Given the description of an element on the screen output the (x, y) to click on. 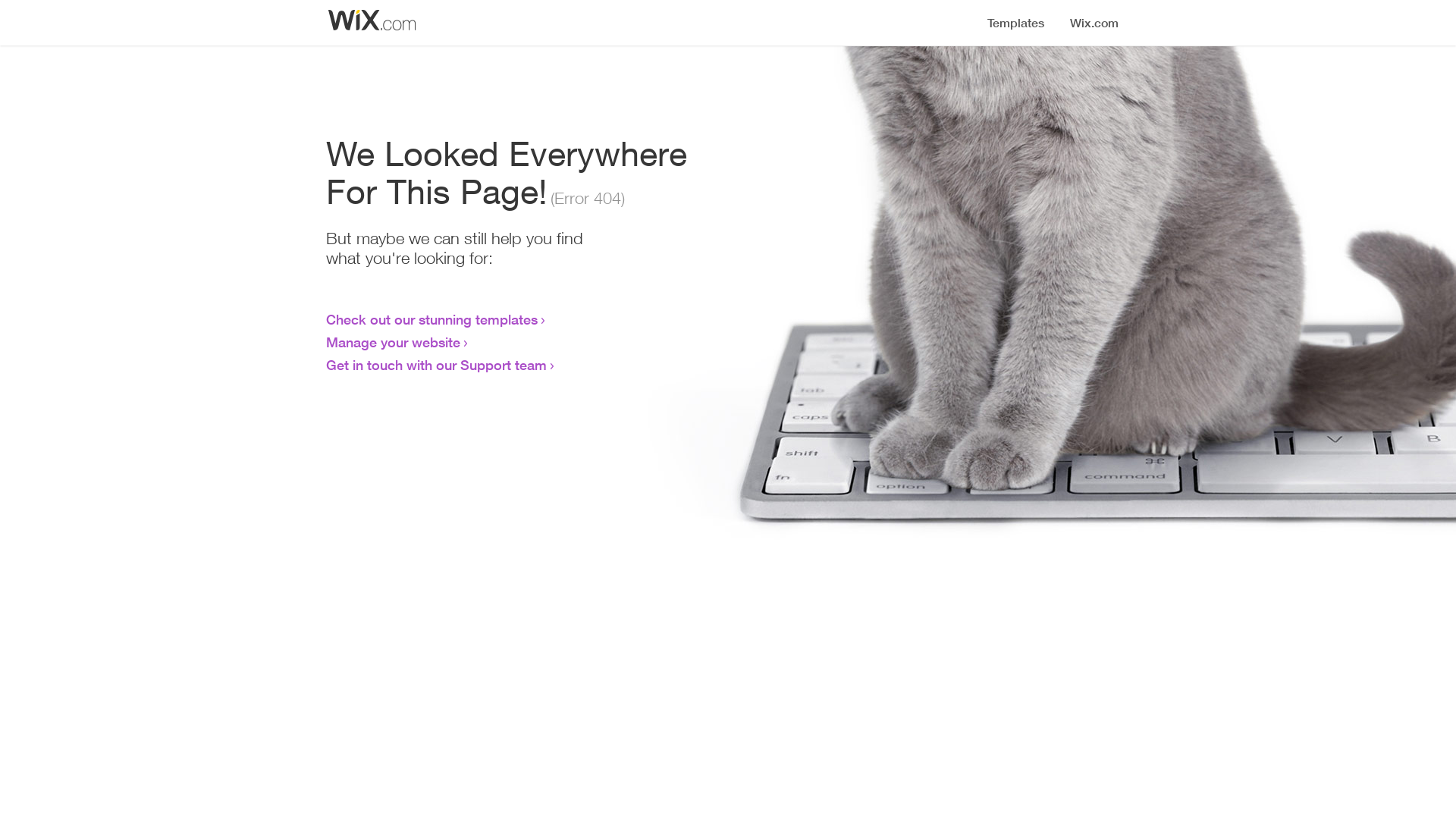
Get in touch with our Support team Element type: text (436, 364)
Manage your website Element type: text (393, 341)
Check out our stunning templates Element type: text (431, 318)
